Given the description of an element on the screen output the (x, y) to click on. 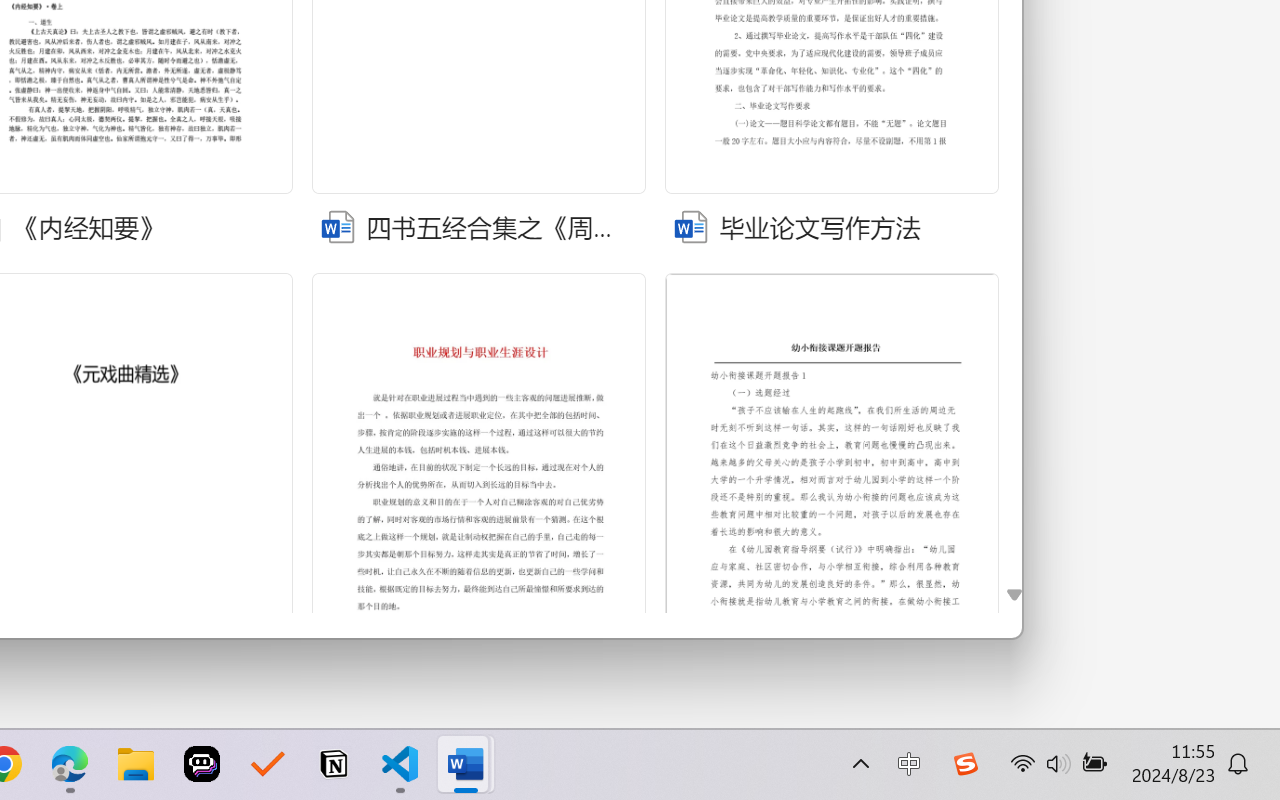
Class: ___510cvc0 f64fuq3 fjamq6b f11u7vat (688, 224)
